Given the description of an element on the screen output the (x, y) to click on. 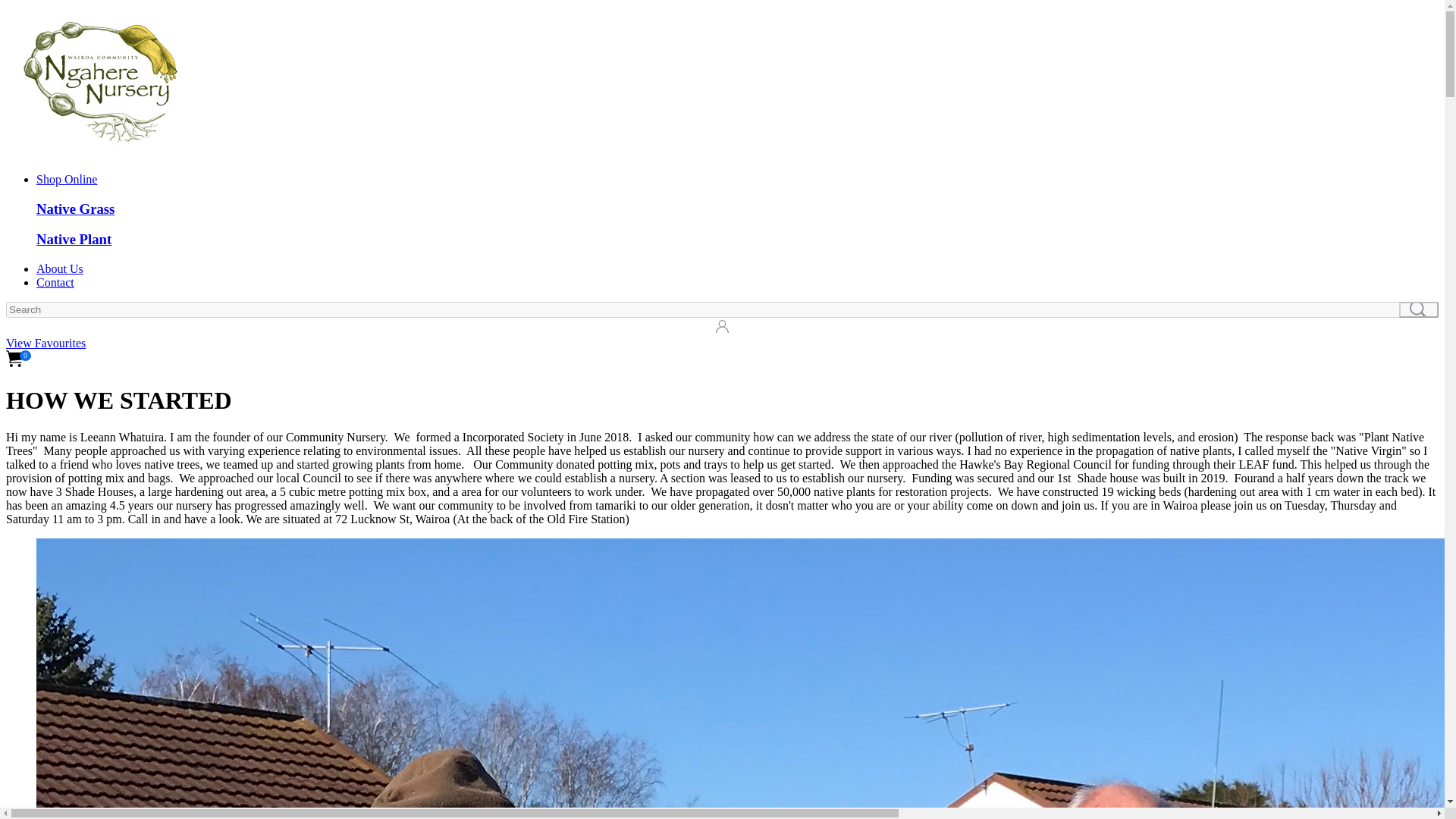
Search (1418, 309)
View Favourites (45, 342)
Native Grass (75, 208)
Native Plant (74, 238)
Contact (55, 282)
Shop Online (66, 178)
Login (14, 326)
About Us (59, 268)
